Given the description of an element on the screen output the (x, y) to click on. 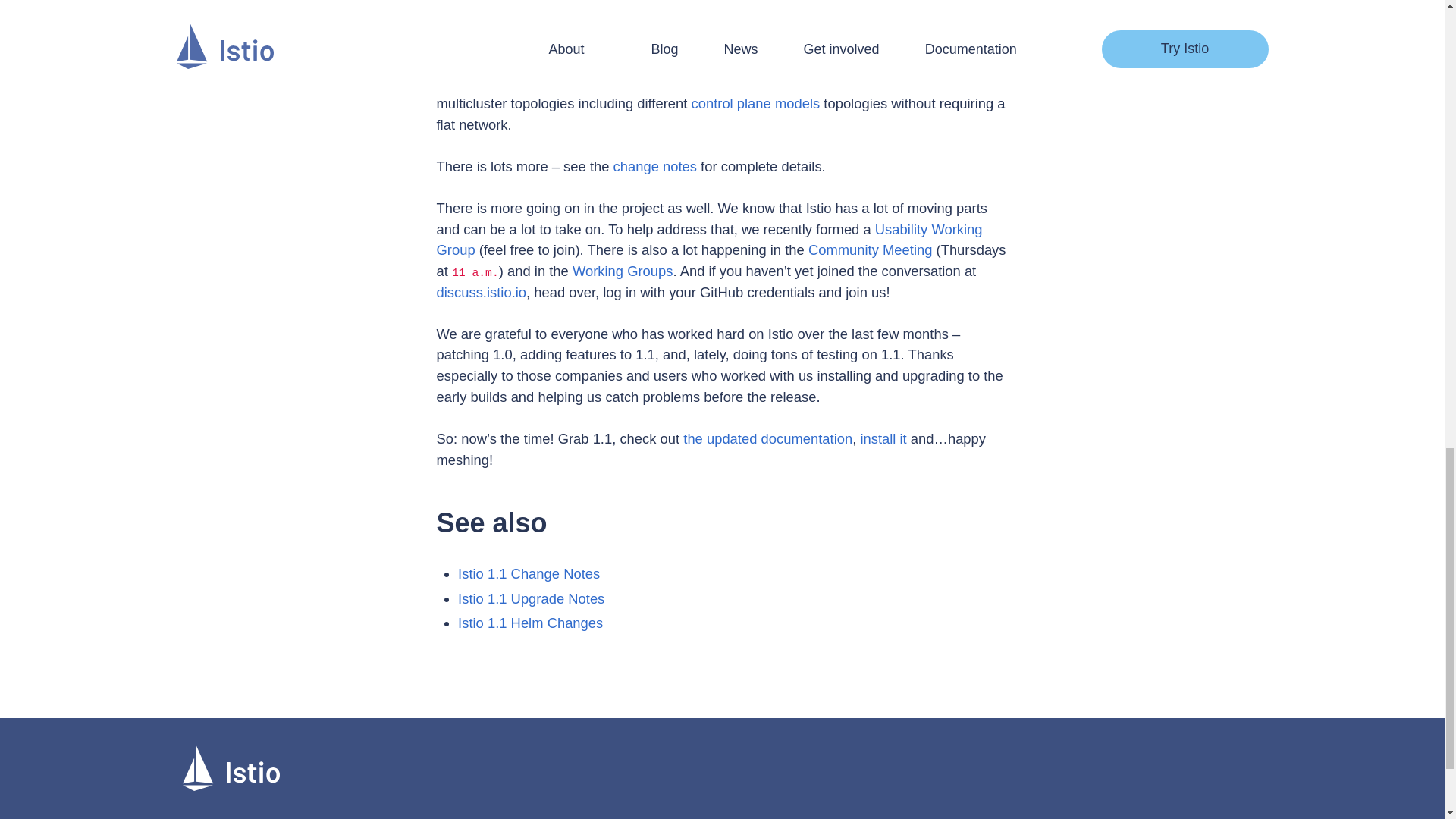
Istio 1.1 Change Notes (528, 573)
install it (882, 438)
discuss.istio.io (481, 292)
Community Meeting (870, 249)
Galley (569, 40)
change notes (654, 166)
the updated documentation (766, 438)
Istio 1.1 Upgrade Notes (531, 597)
Working Groups (622, 270)
multicluster setups (831, 61)
